Given the description of an element on the screen output the (x, y) to click on. 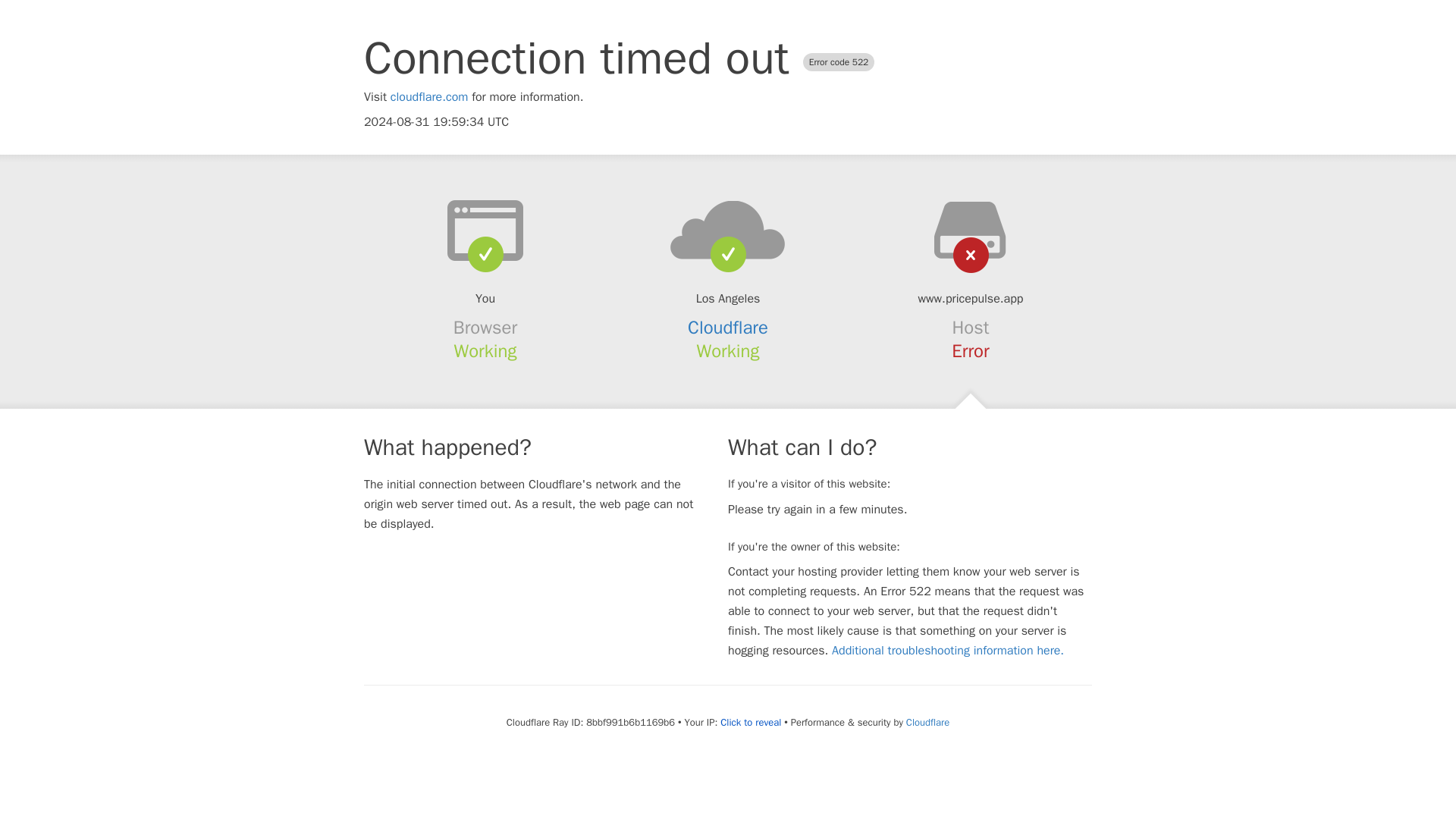
cloudflare.com (429, 96)
Cloudflare (727, 327)
Cloudflare (927, 721)
Click to reveal (750, 722)
Additional troubleshooting information here. (947, 650)
